Given the description of an element on the screen output the (x, y) to click on. 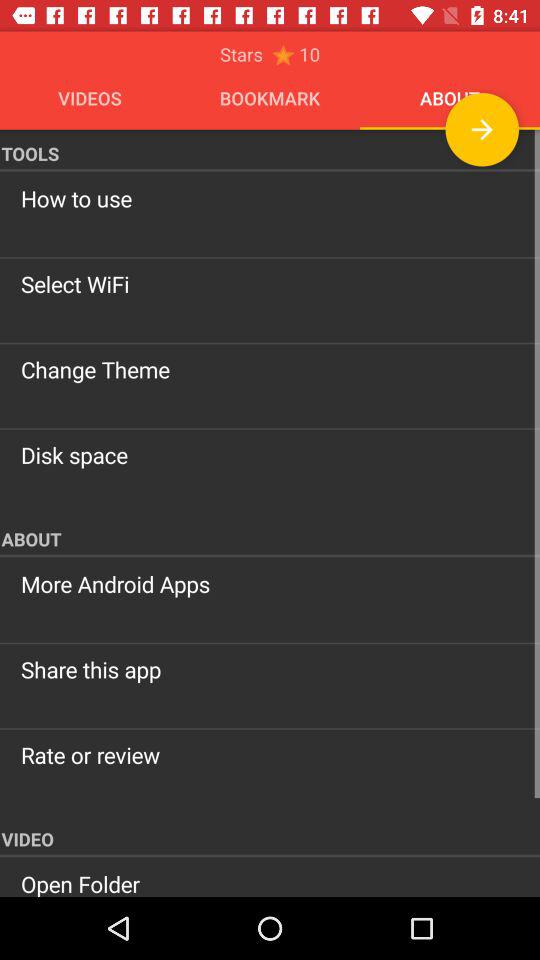
launch the item above how to use item (482, 129)
